Given the description of an element on the screen output the (x, y) to click on. 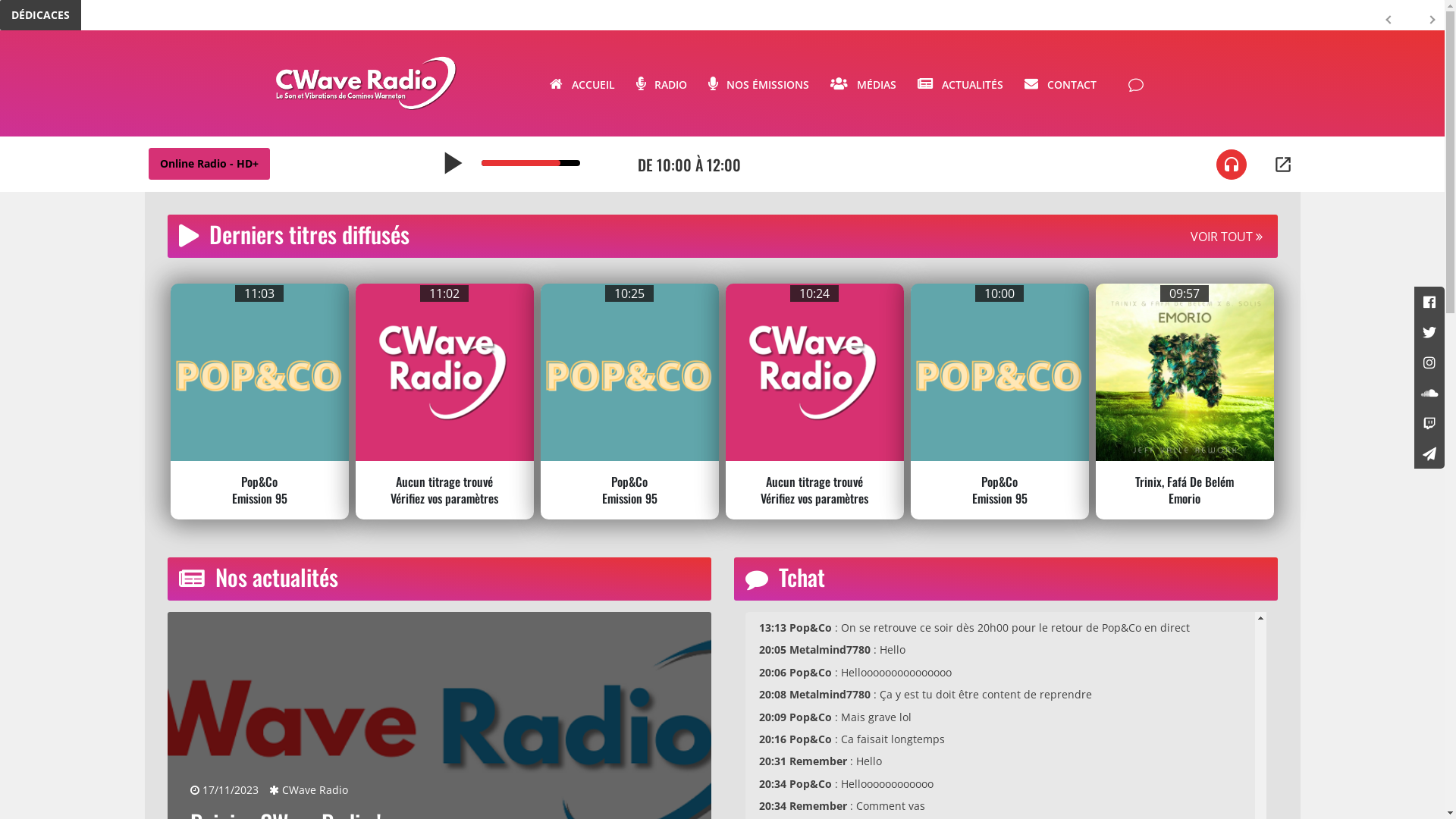
  ACCUEIL Element type: text (581, 82)
  RADIO Element type: text (660, 82)
VOIR TOUT Element type: text (1226, 236)
  CONTACT Element type: text (1059, 82)
CWave Radio Element type: text (307, 789)
17/11/2023 Element type: text (223, 789)
